Given the description of an element on the screen output the (x, y) to click on. 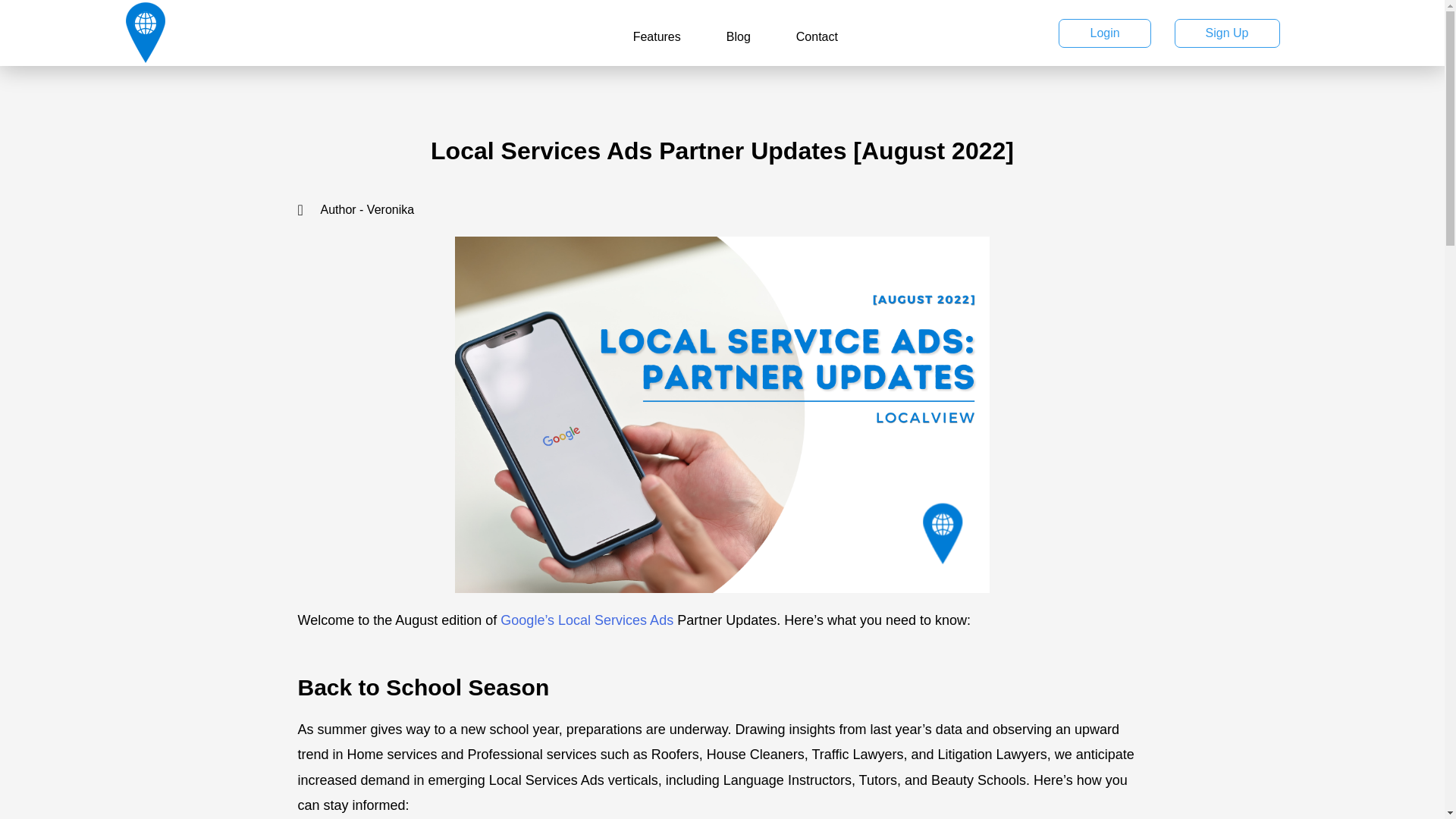
Features (656, 36)
Sign Up (1226, 32)
Login (1104, 32)
Author - Veronika (722, 210)
Contact (816, 36)
Blog (738, 36)
